Given the description of an element on the screen output the (x, y) to click on. 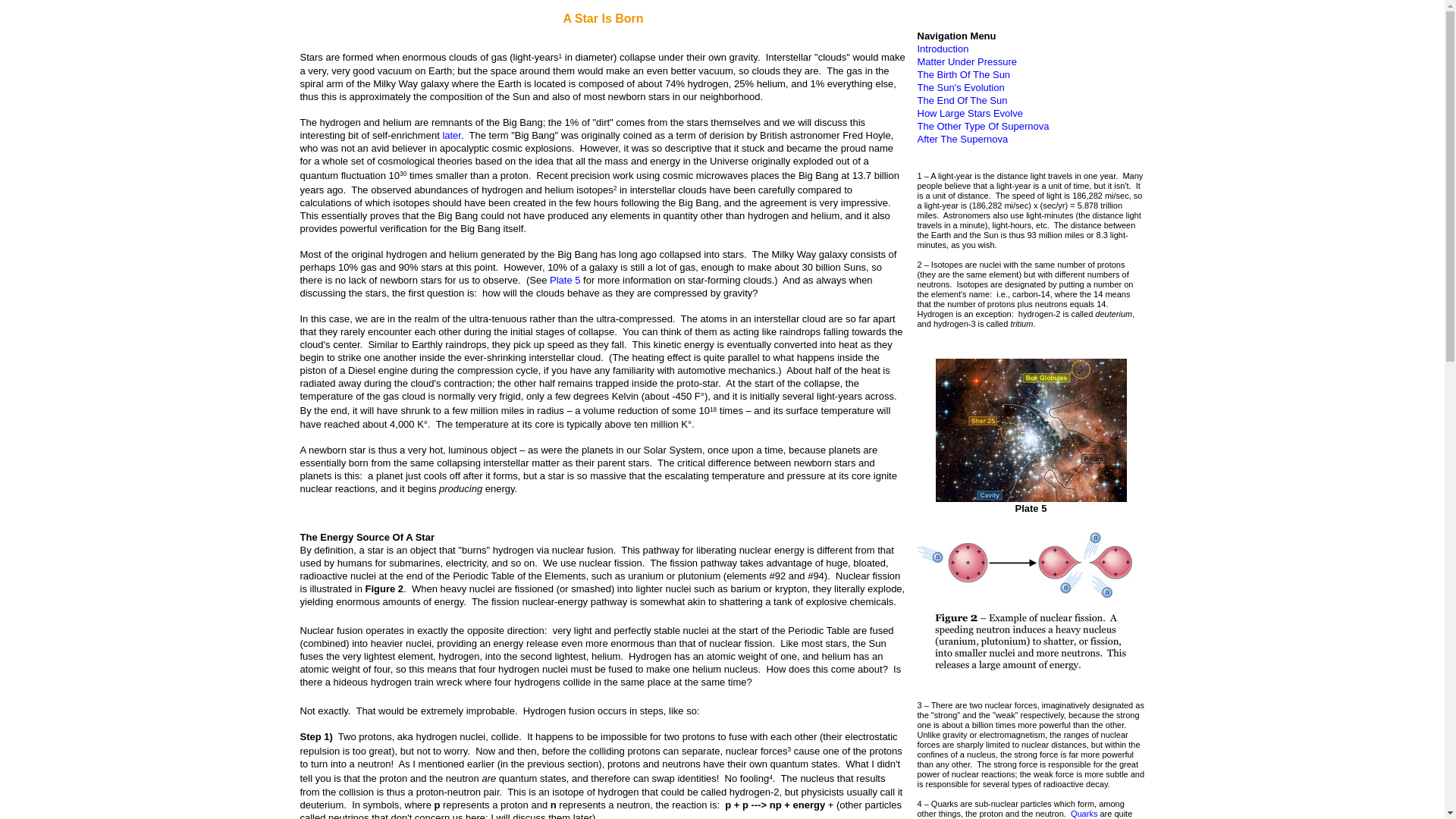
later (451, 134)
The End Of The Sun (962, 100)
Quarks (1083, 813)
The Sun's Evolution (960, 87)
Matter Under Pressure (967, 61)
The Birth Of The Sun (963, 74)
How Large Stars Evolve (970, 112)
Introduction (943, 48)
After The Supernova (963, 138)
Plate 5 (564, 279)
